Given the description of an element on the screen output the (x, y) to click on. 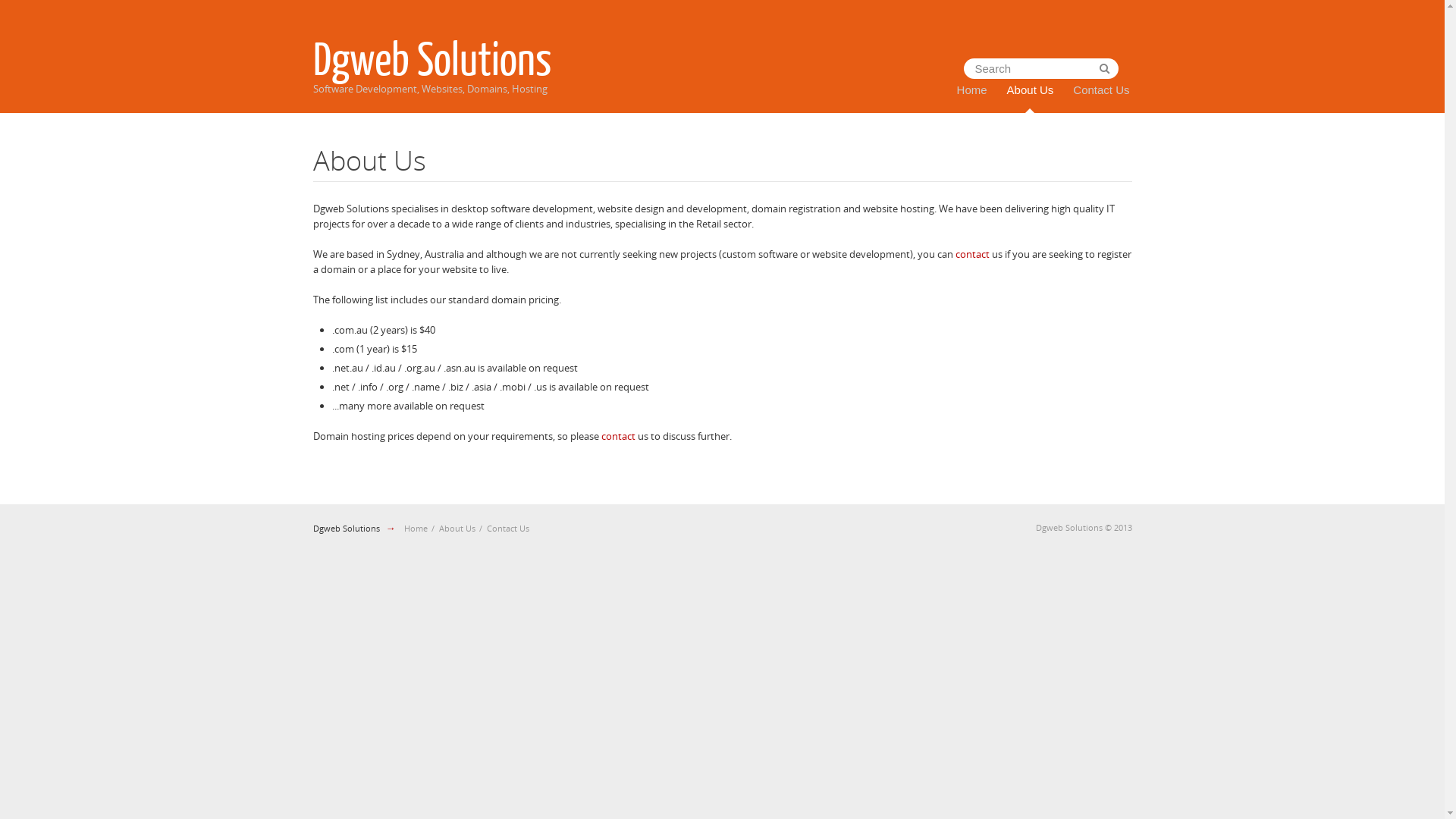
contact Element type: text (972, 253)
Home Element type: text (971, 90)
Contact Us Element type: text (507, 527)
L Element type: text (1104, 68)
Contact Us Element type: text (1100, 90)
contact Element type: text (617, 435)
Home Element type: text (414, 527)
About Us Element type: text (456, 527)
Dgweb Solutions Element type: text (345, 527)
About Us Element type: text (1030, 90)
